Given the description of an element on the screen output the (x, y) to click on. 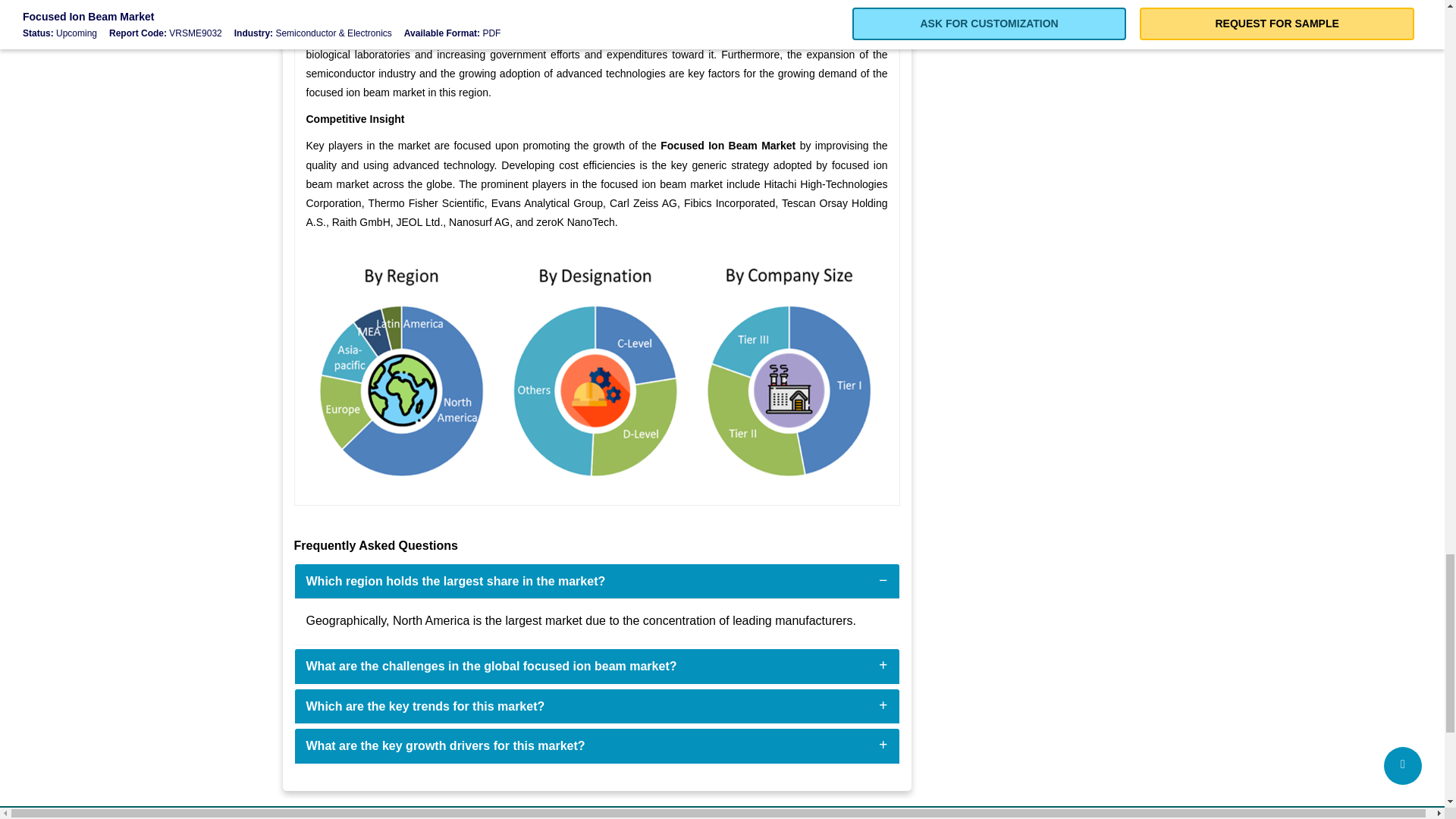
Which are the key trends for this market? (424, 706)
Which region holds the largest share in the market? (455, 581)
What are the key growth drivers for this market? (445, 745)
